Given the description of an element on the screen output the (x, y) to click on. 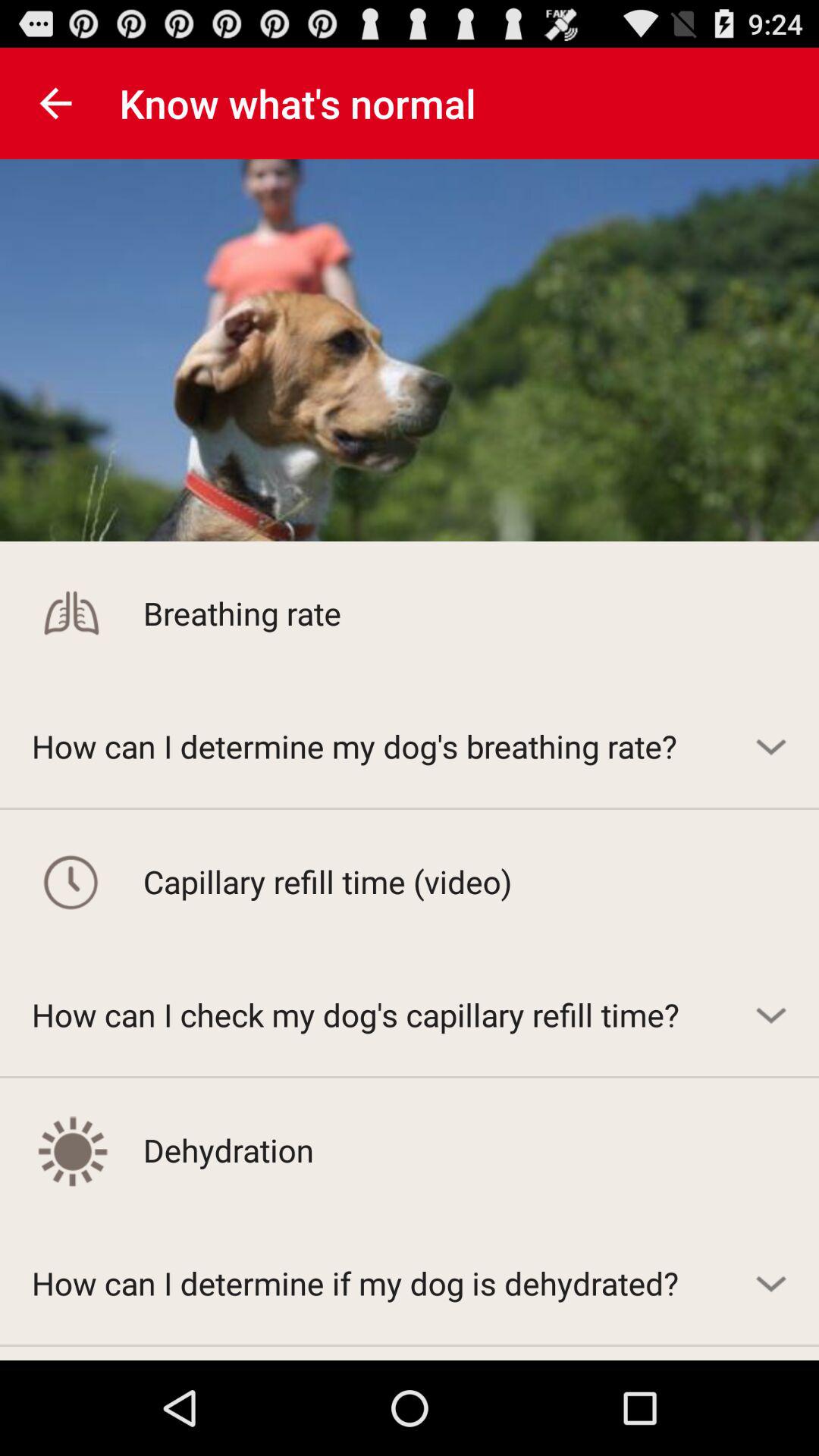
tap icon to the left of know what s icon (55, 103)
